Given the description of an element on the screen output the (x, y) to click on. 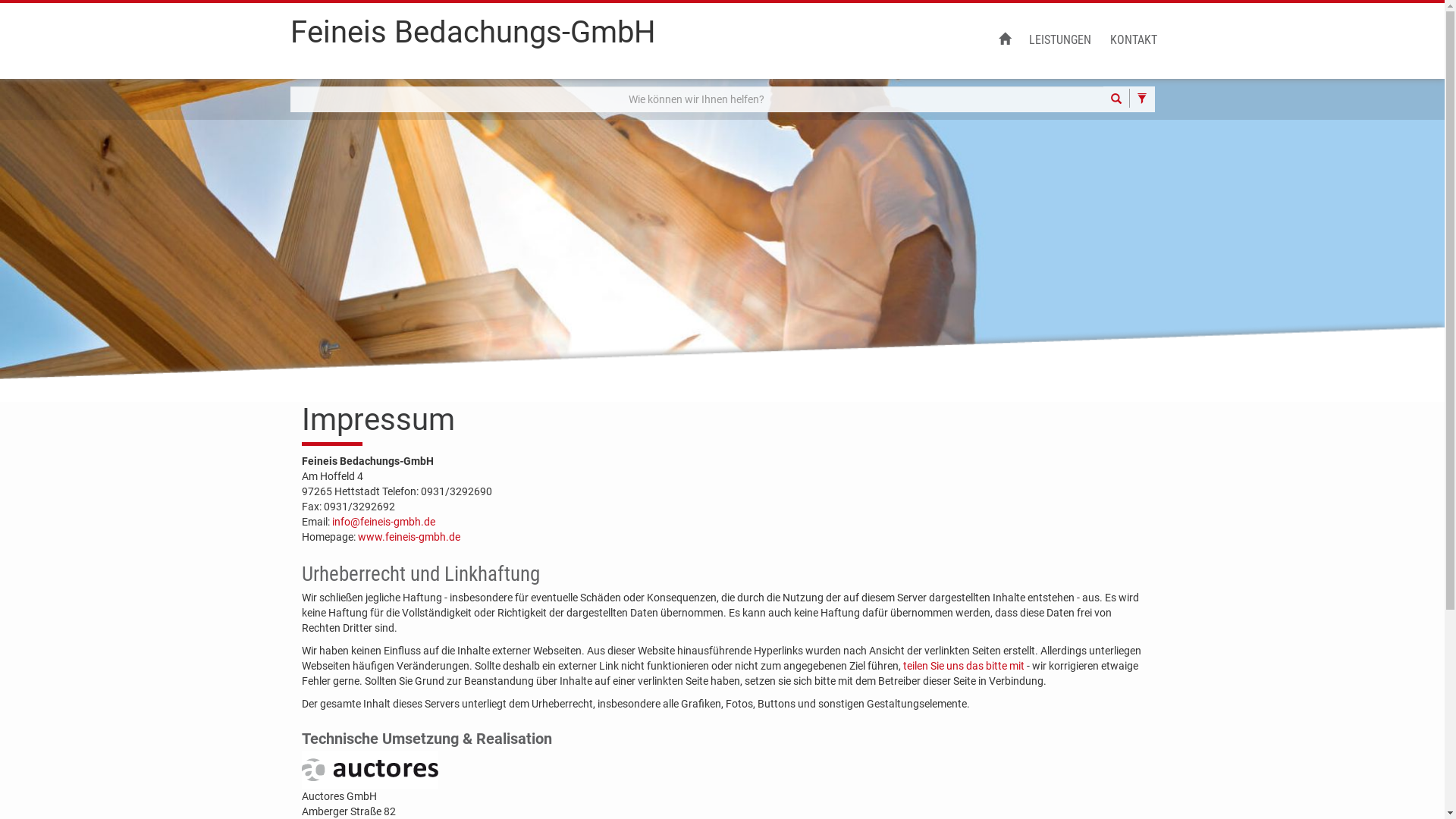
Link zur  Auctores GmbH Element type: hover (369, 769)
KONTAKT Element type: text (1133, 40)
teilen Sie uns das bitte mit Element type: text (962, 665)
Feineis Bedachungs-GmbH Element type: text (472, 38)
info@feineis-gmbh.de Element type: text (383, 521)
LEISTUNGEN Element type: text (1059, 40)
www.feineis-gmbh.de Element type: text (408, 536)
